Given the description of an element on the screen output the (x, y) to click on. 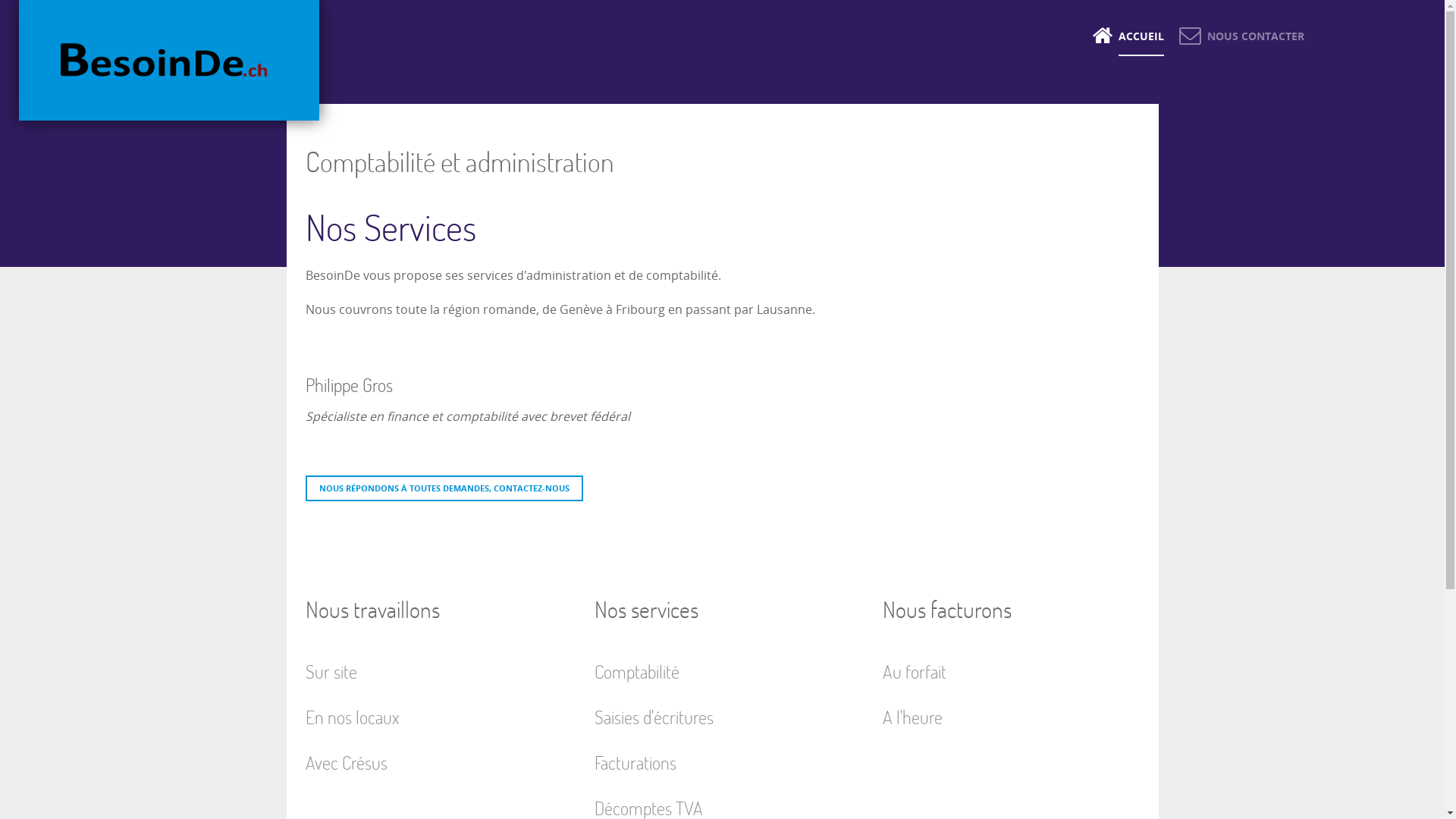
ACCUEIL Element type: text (1128, 36)
NOUS CONTACTER Element type: text (1241, 36)
Photon Element type: hover (168, 60)
